Given the description of an element on the screen output the (x, y) to click on. 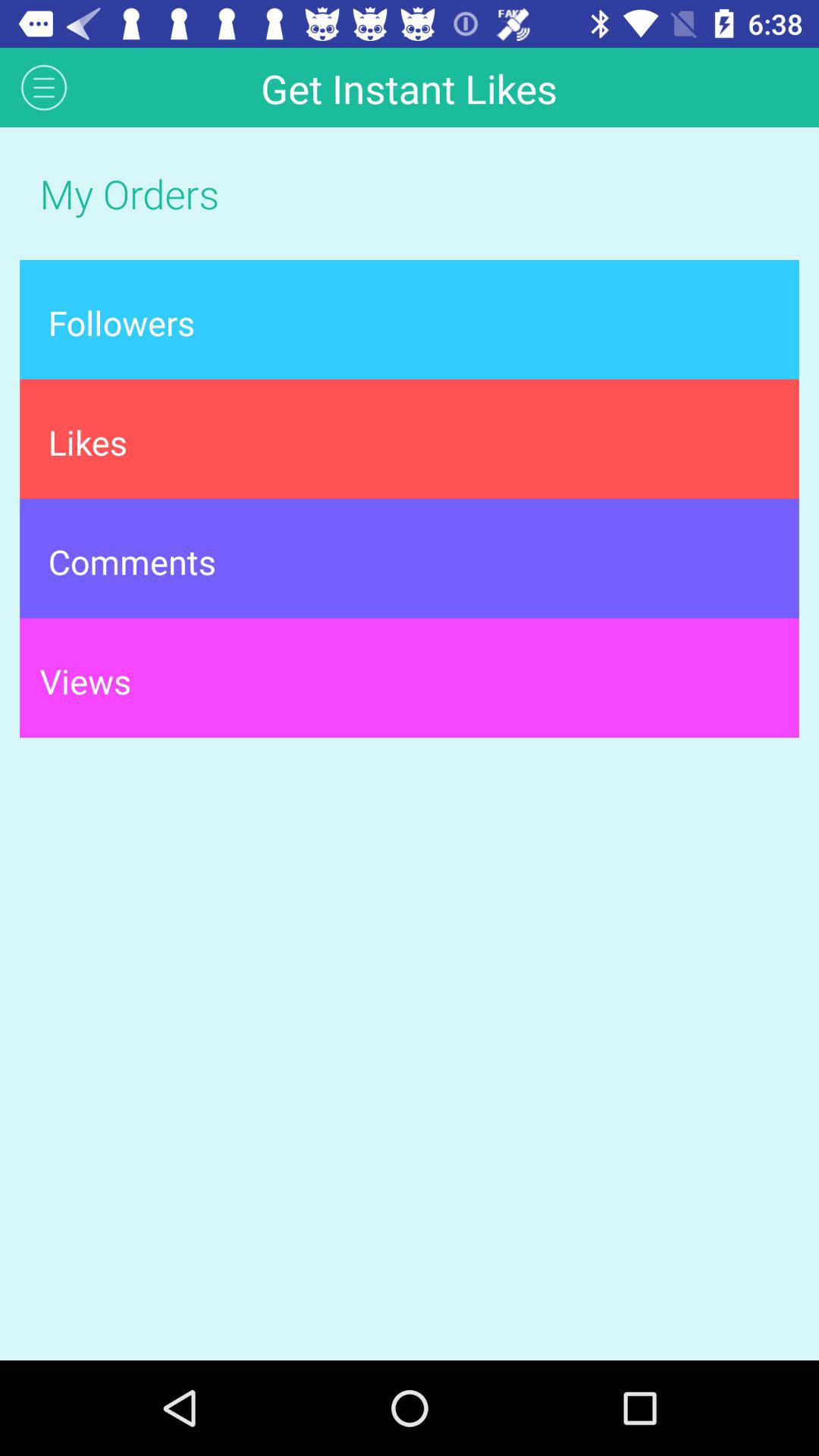
turn on the icon below the my orders app (409, 319)
